Given the description of an element on the screen output the (x, y) to click on. 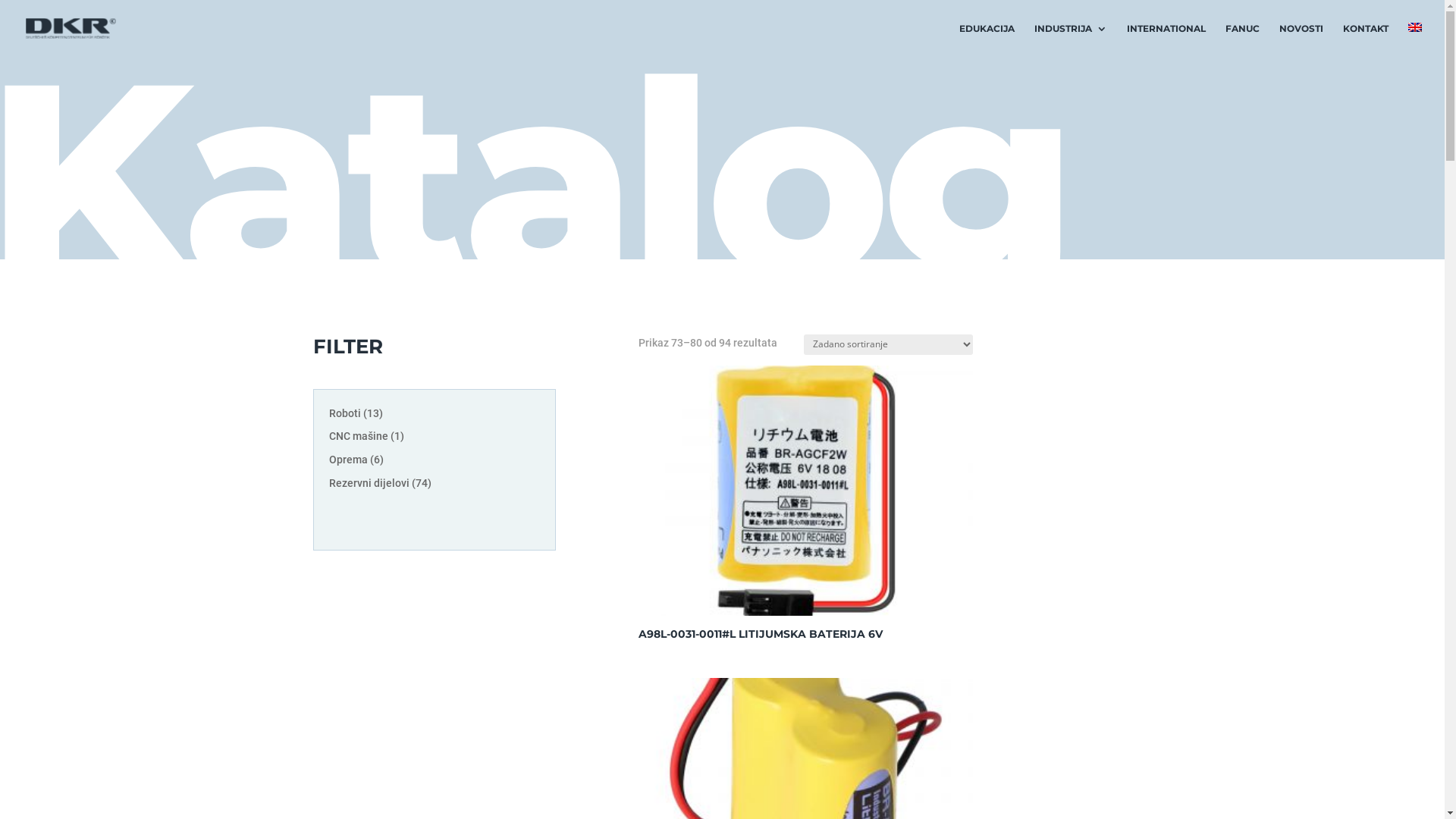
INDUSTRIJA Element type: text (1070, 39)
A98L-0031-0011#L LITIJUMSKA BATERIJA 6V Element type: text (805, 505)
EDUKACIJA Element type: text (986, 39)
KONTAKT Element type: text (1365, 39)
NOVOSTI Element type: text (1301, 39)
INTERNATIONAL Element type: text (1165, 39)
Roboti Element type: text (346, 413)
FANUC Element type: text (1242, 39)
Rezervni dijelovi Element type: text (370, 482)
Oprema Element type: text (349, 459)
